Given the description of an element on the screen output the (x, y) to click on. 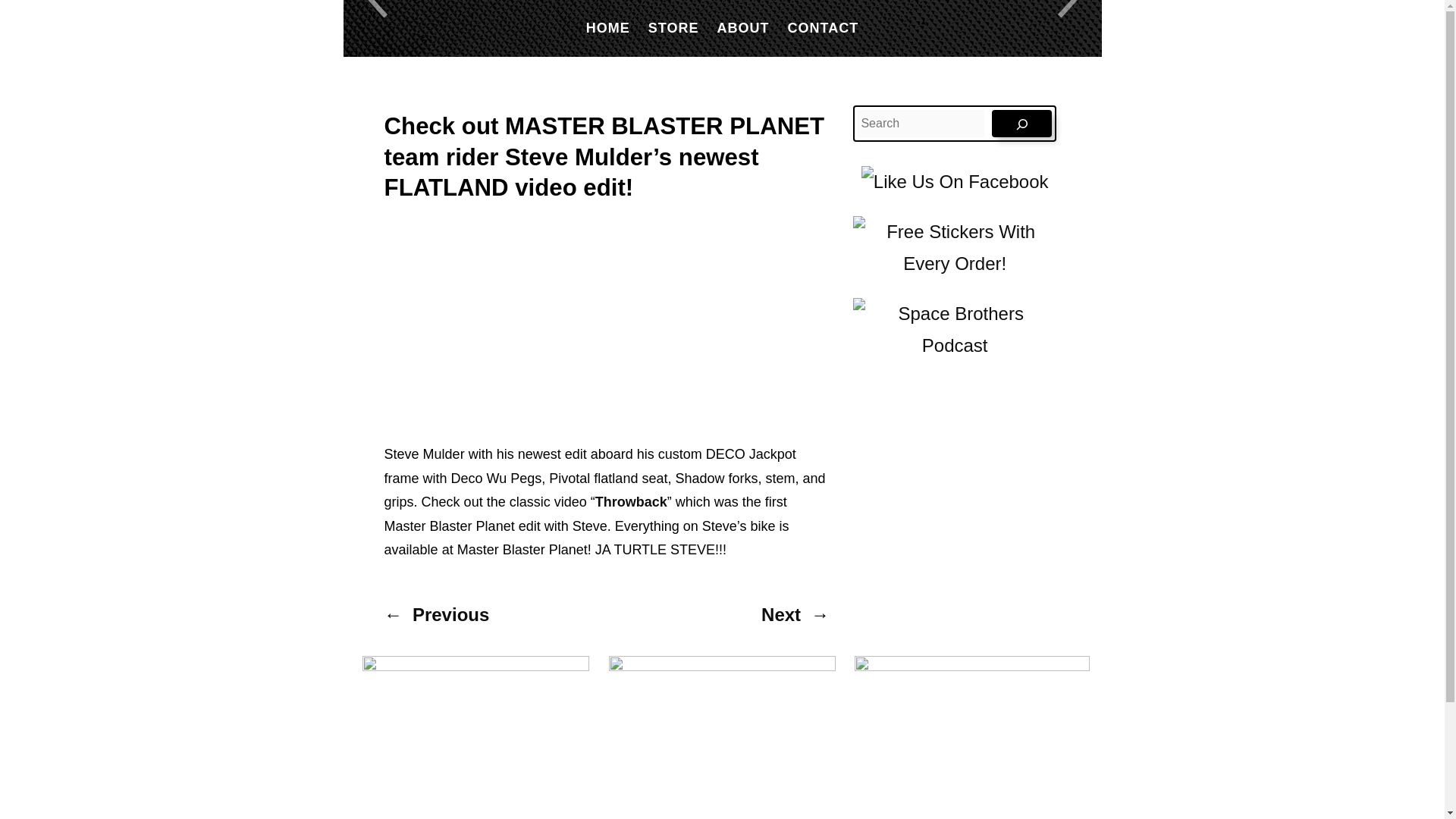
CONTACT (823, 28)
FLATLAND BMX 2016 CLIPS (573, 309)
Contact Us (823, 28)
Throwback (630, 501)
Our eBay Store (672, 28)
About Us (743, 28)
Next (780, 614)
ABOUT (743, 28)
Previous (450, 614)
HOME (608, 28)
